Given the description of an element on the screen output the (x, y) to click on. 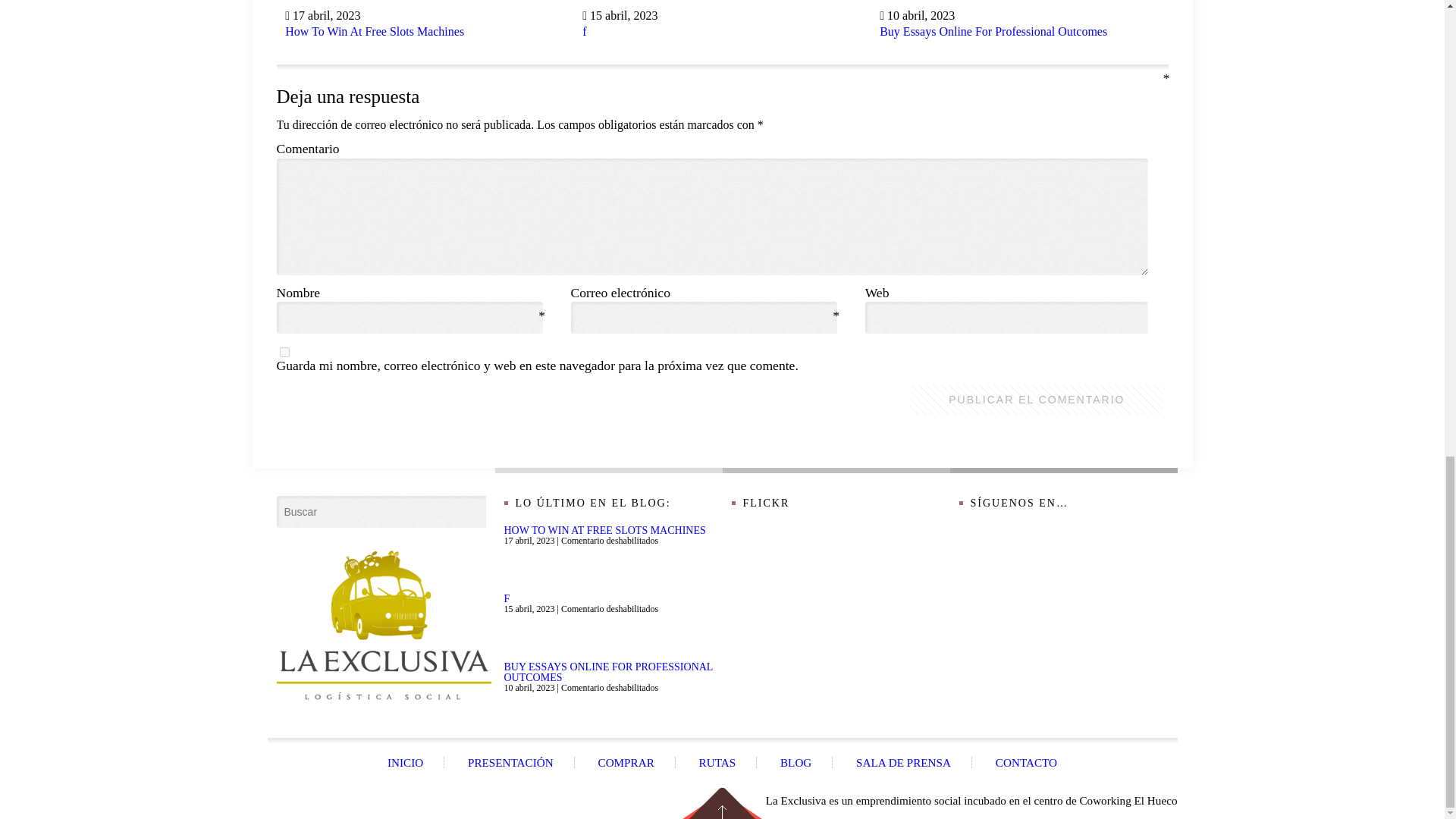
Publicar el comentario (1036, 399)
BUY ESSAYS ONLINE FOR PROFESSIONAL OUTCOMES (607, 671)
HOW TO WIN AT FREE SLOTS MACHINES (603, 530)
Blog (795, 762)
BLOG (795, 762)
COMPRAR (625, 762)
Publicar el comentario (1036, 399)
Buy Essays Online For Professional Outcomes (992, 31)
yes (283, 352)
Search (290, 508)
INICIO (404, 762)
Rutas La Exclusiva Soria (717, 762)
Search (290, 508)
RUTAS (717, 762)
Comprar La Exclusiva Soria (625, 762)
